Given the description of an element on the screen output the (x, y) to click on. 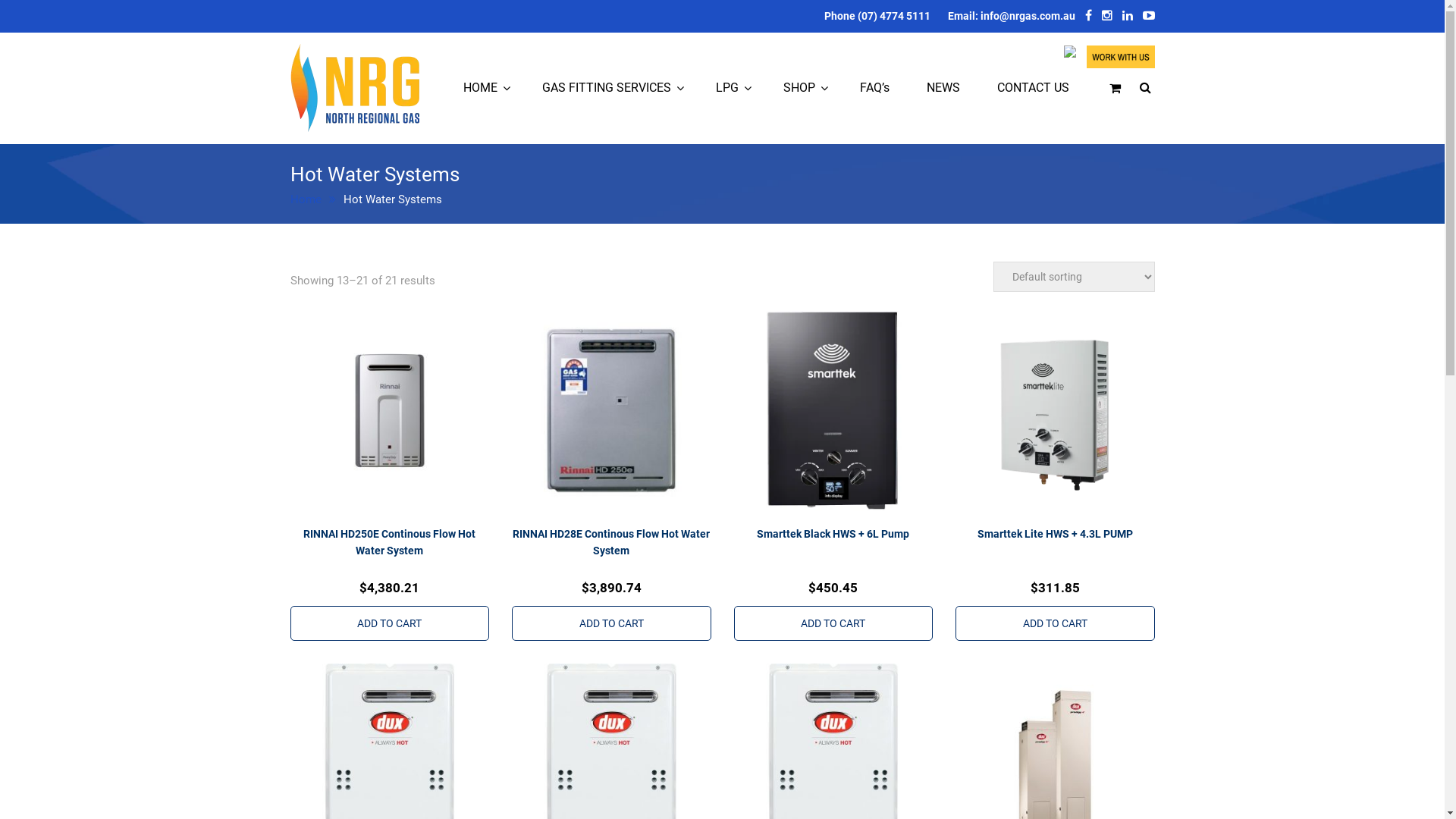
GAS FITTING SERVICES Element type: text (606, 87)
View your shopping cart Element type: hover (1114, 88)
SHOP Element type: text (799, 87)
ADD TO CART Element type: text (611, 622)
Smarttek Black HWS + 6L Pump Element type: text (833, 633)
RINNAI HD250E Continous Flow Hot Water System Element type: text (389, 633)
NEWS Element type: text (943, 87)
Phone (07) 4774 5111 Element type: text (876, 15)
Smarttek Lite HWS + 4.3L PUMP Element type: text (1054, 633)
RINNAI HD28E Continous Flow Hot Water System Element type: text (611, 633)
ADD TO CART Element type: text (833, 622)
HOME Element type: text (480, 87)
Email: info@nrgas.com.au Element type: text (1011, 15)
LPG Element type: text (726, 87)
ADD TO CART Element type: text (1054, 622)
CONTACT US Element type: text (1033, 87)
ADD TO CART Element type: text (389, 622)
Home Element type: text (312, 199)
